Given the description of an element on the screen output the (x, y) to click on. 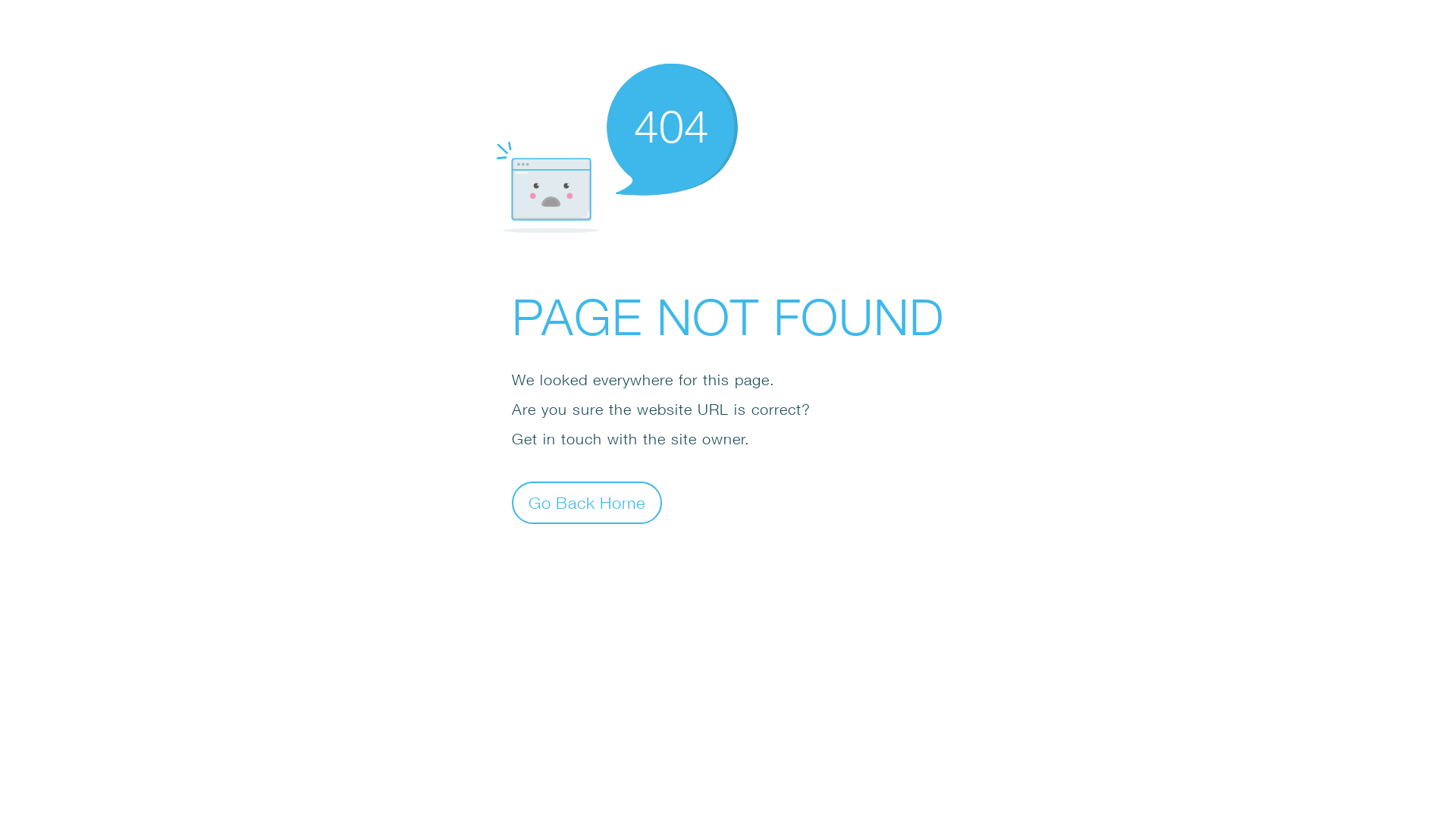
Go Back Home Element type: text (586, 502)
